Given the description of an element on the screen output the (x, y) to click on. 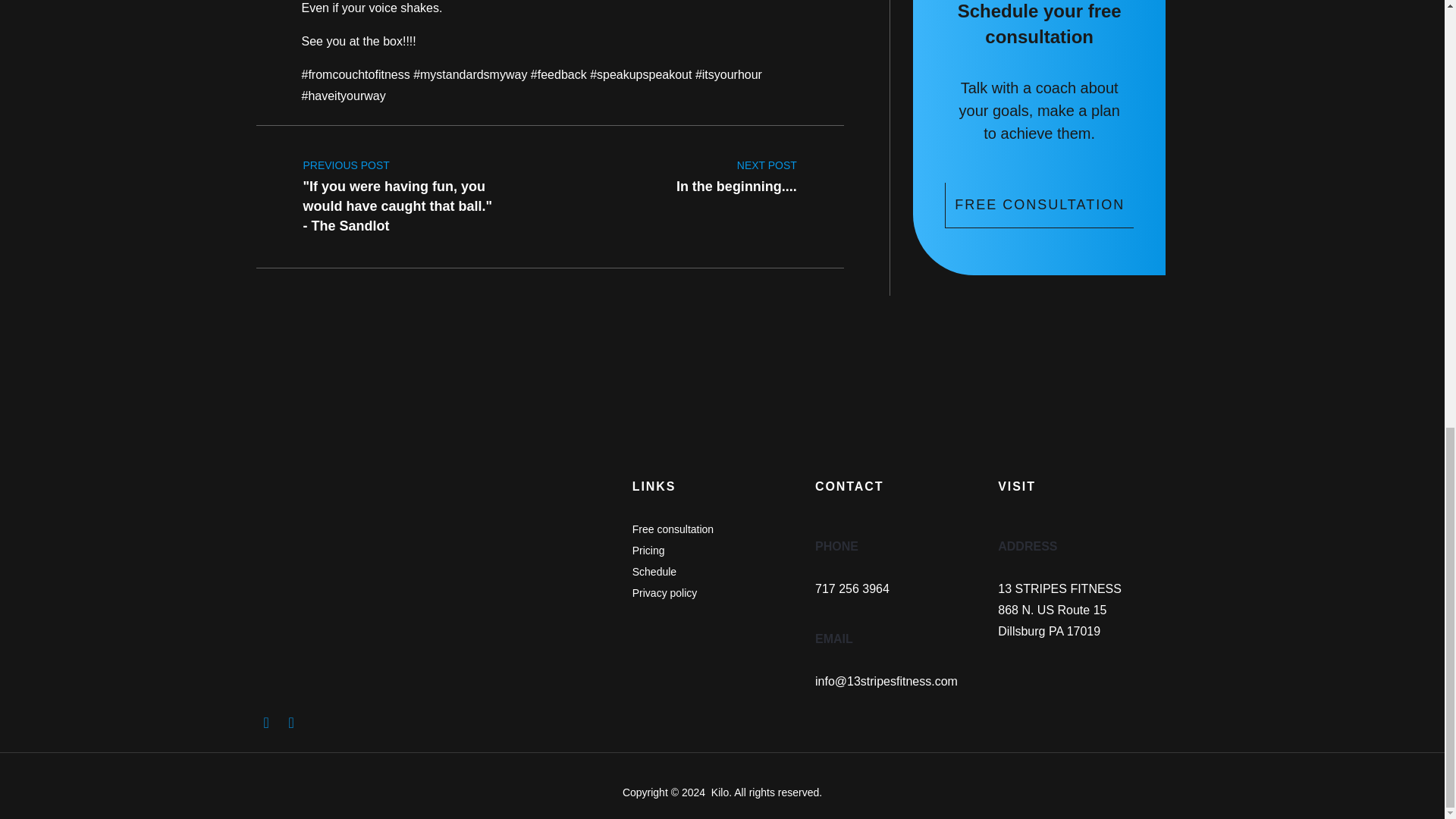
FREE CONSULTATION (1039, 205)
In the beginning.... (736, 171)
